Given the description of an element on the screen output the (x, y) to click on. 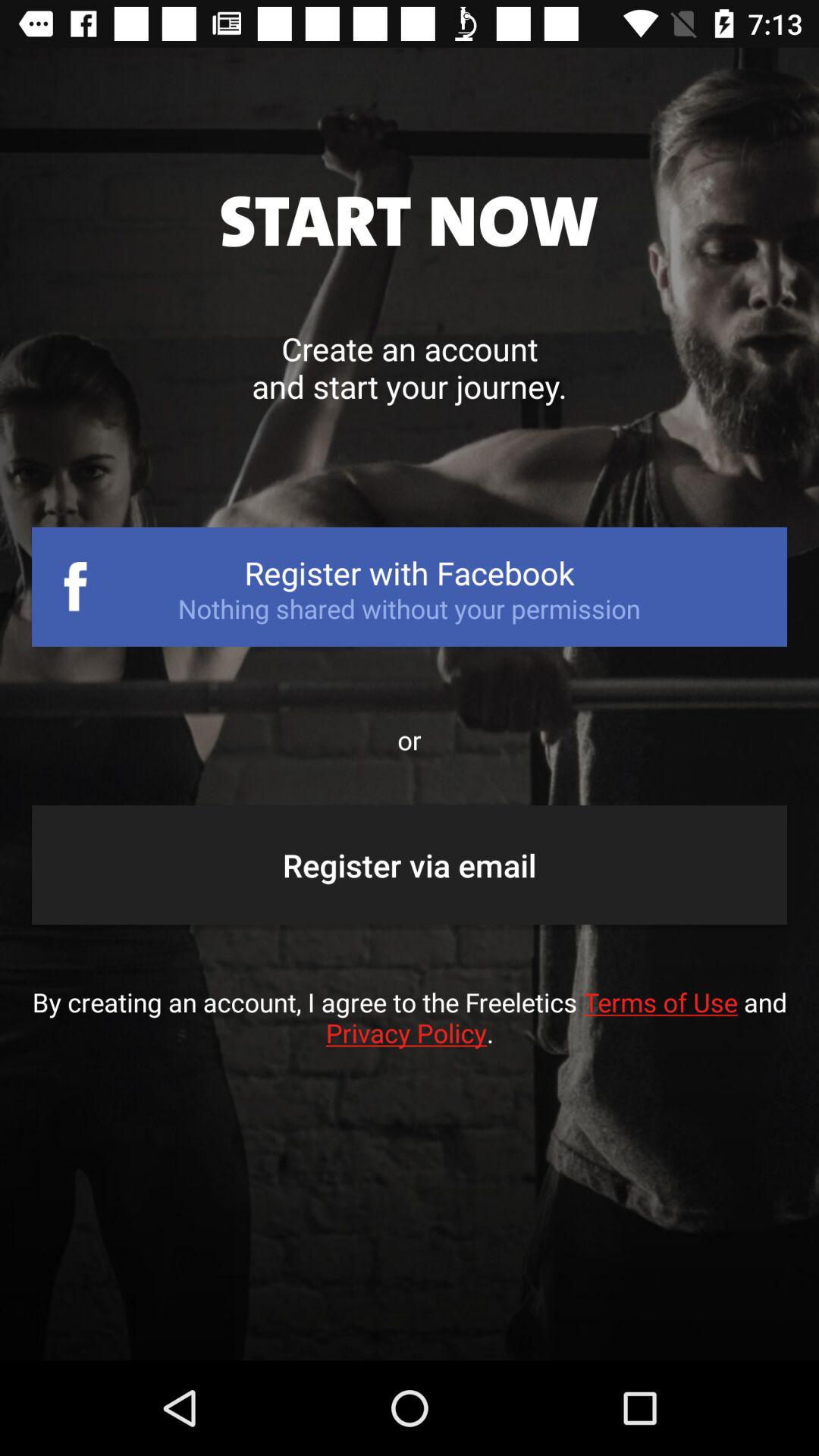
turn off the icon below the or (409, 864)
